Given the description of an element on the screen output the (x, y) to click on. 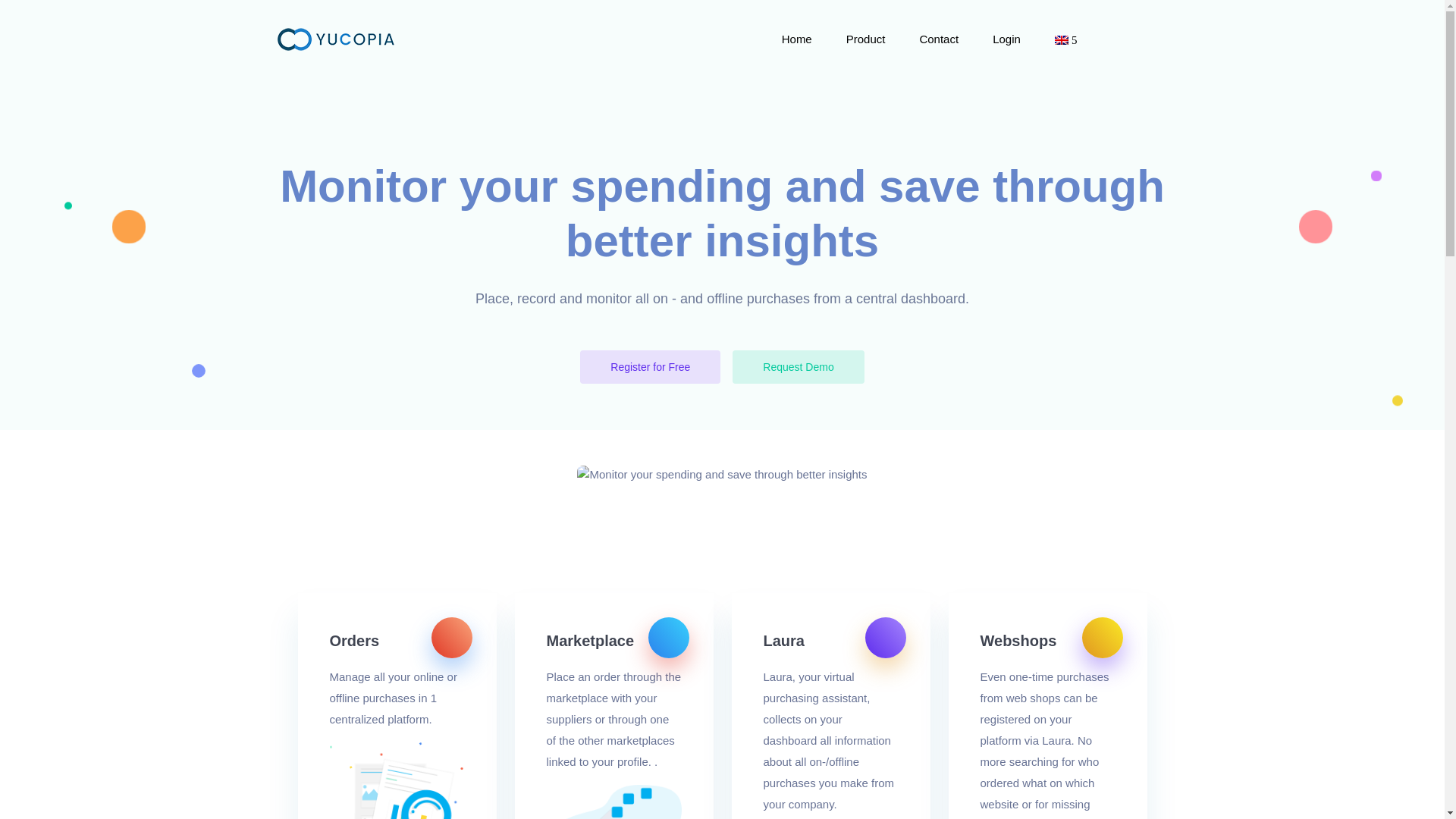
Register for Free (649, 367)
Product (865, 38)
Login (1006, 38)
Contact (938, 38)
Home (796, 38)
Request Demo (797, 367)
